Given the description of an element on the screen output the (x, y) to click on. 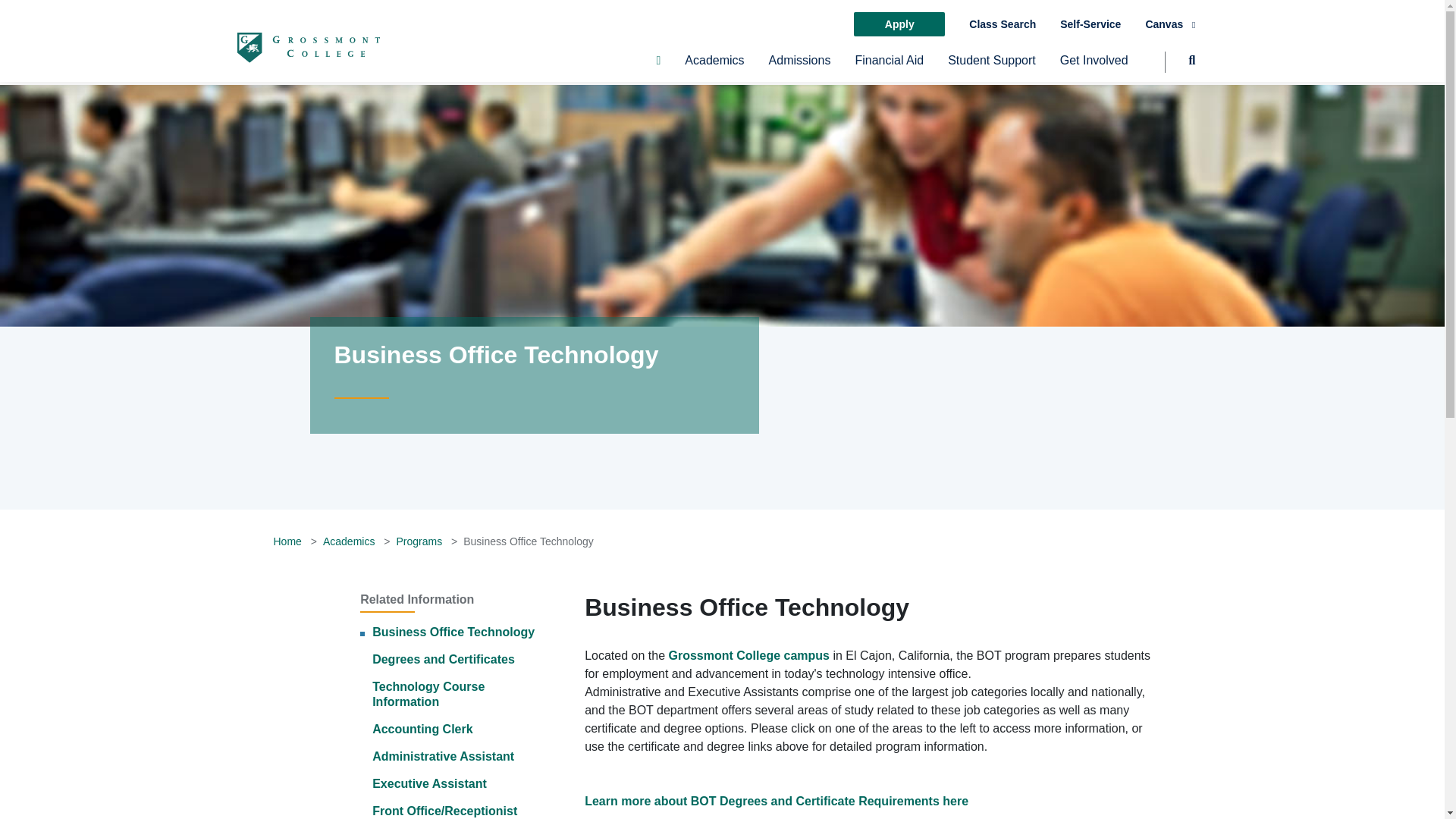
Student Support (991, 66)
Degrees and Certificates (443, 658)
Academics (714, 66)
Technology Course Information (428, 694)
Get Involved (1093, 66)
Canvas (1169, 23)
grossmont.edu (306, 47)
Administrative Assistant (442, 756)
Self-Service (1090, 23)
Apply (898, 24)
